Given the description of an element on the screen output the (x, y) to click on. 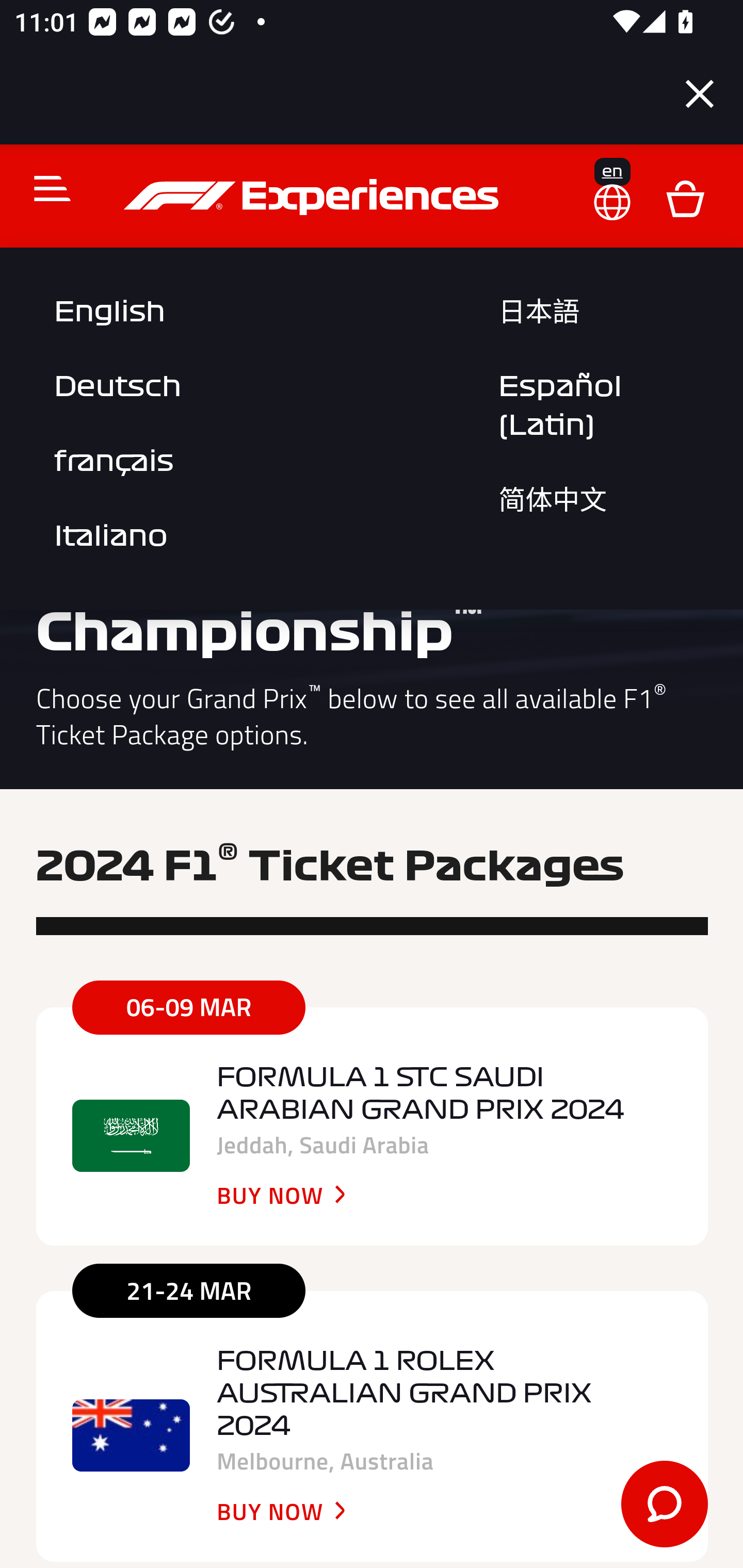
Close (699, 93)
Toggle navigation C (43, 188)
D (684, 197)
f1experiences (313, 197)
